Given the description of an element on the screen output the (x, y) to click on. 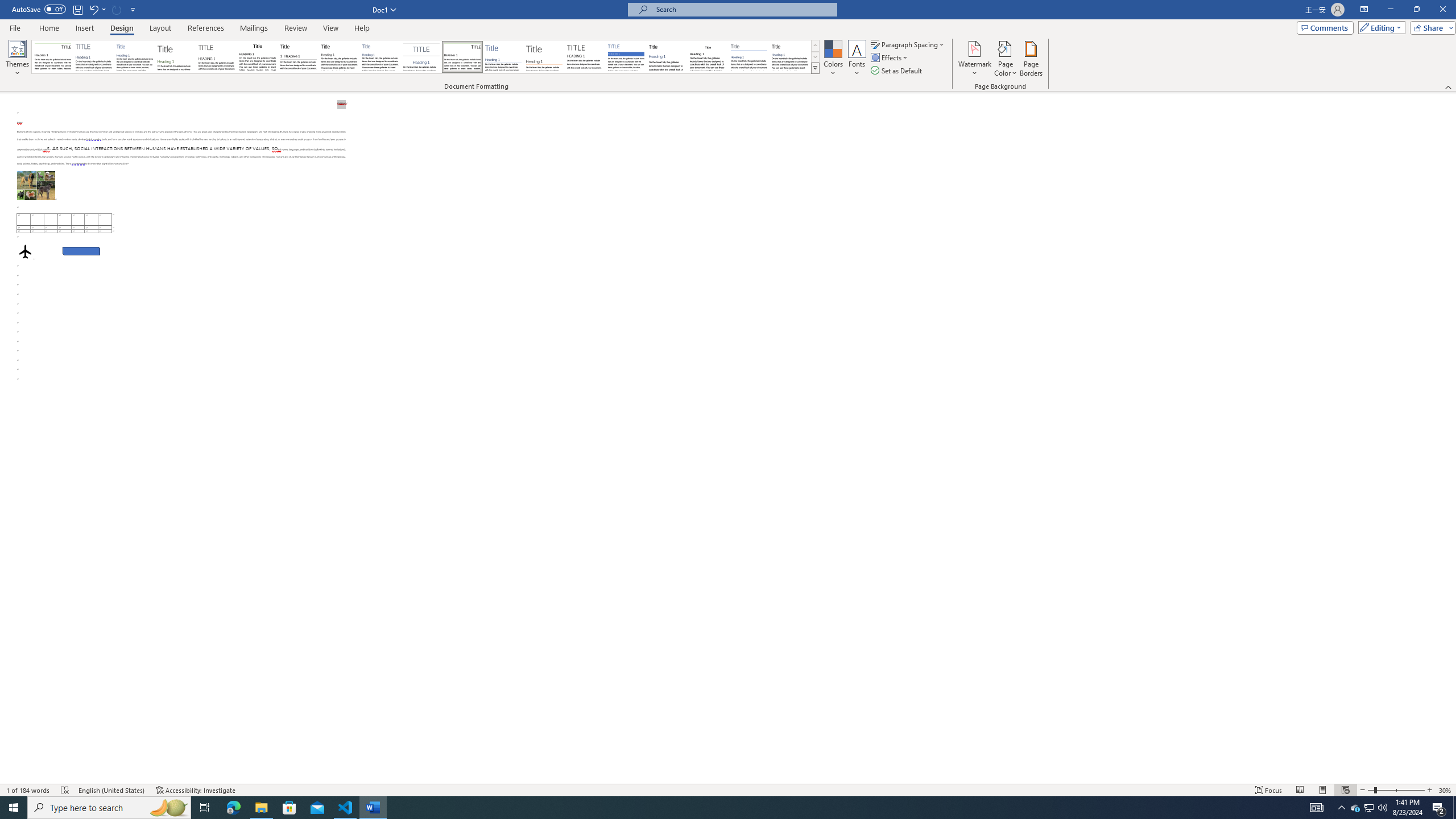
Colors (832, 58)
Editing (1379, 27)
Word 2003 (707, 56)
Word 2013 (790, 56)
Casual (379, 56)
Word Count 1 of 184 words (28, 790)
Effects (890, 56)
Morphological variation in six dogs (36, 185)
